Given the description of an element on the screen output the (x, y) to click on. 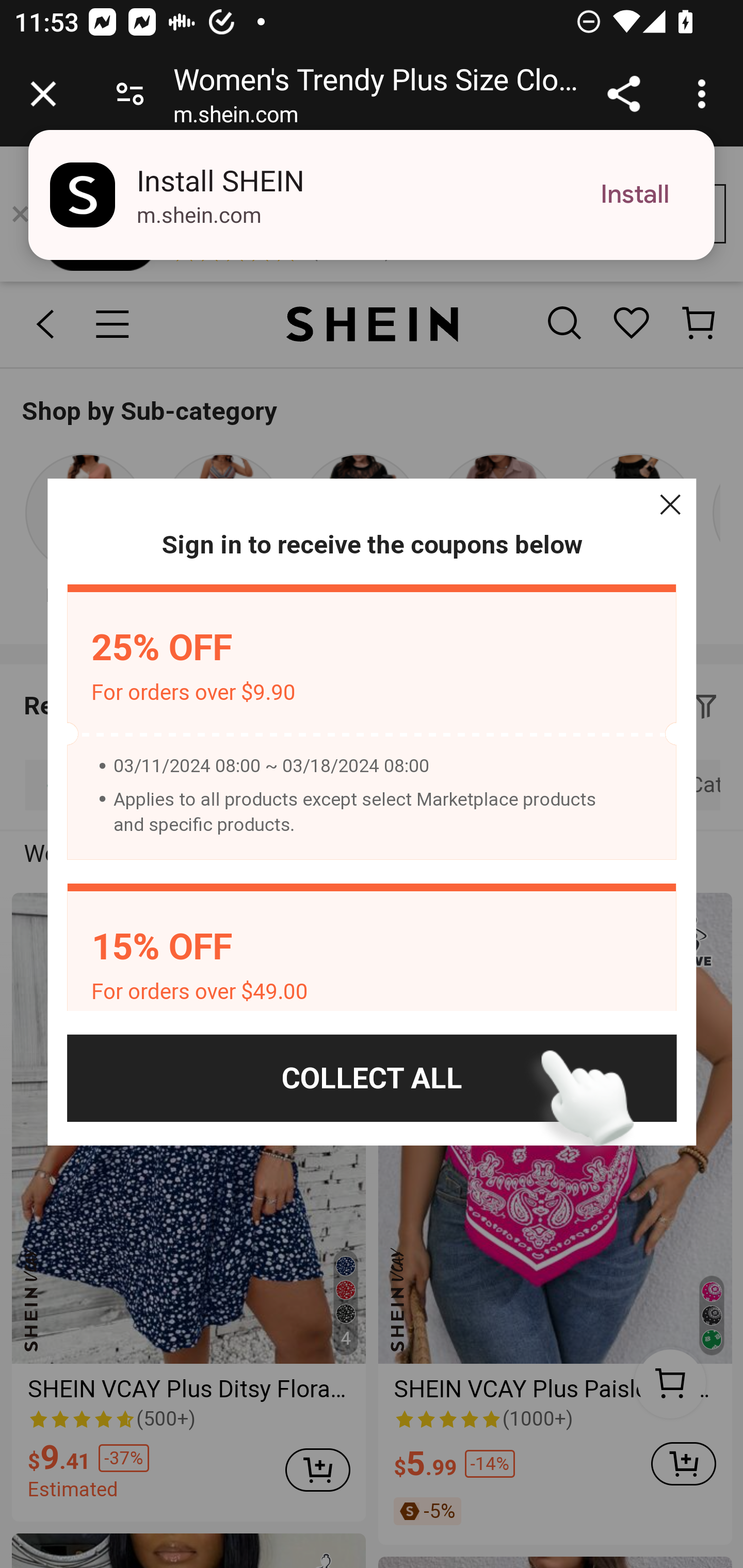
Close tab (43, 93)
Share link address (623, 93)
Customize and control Google Chrome (705, 93)
Connection is secure (129, 93)
m.shein.com (235, 117)
Install (634, 195)
Close (669, 503)
COLLECT ALL (371, 1077)
